Given the description of an element on the screen output the (x, y) to click on. 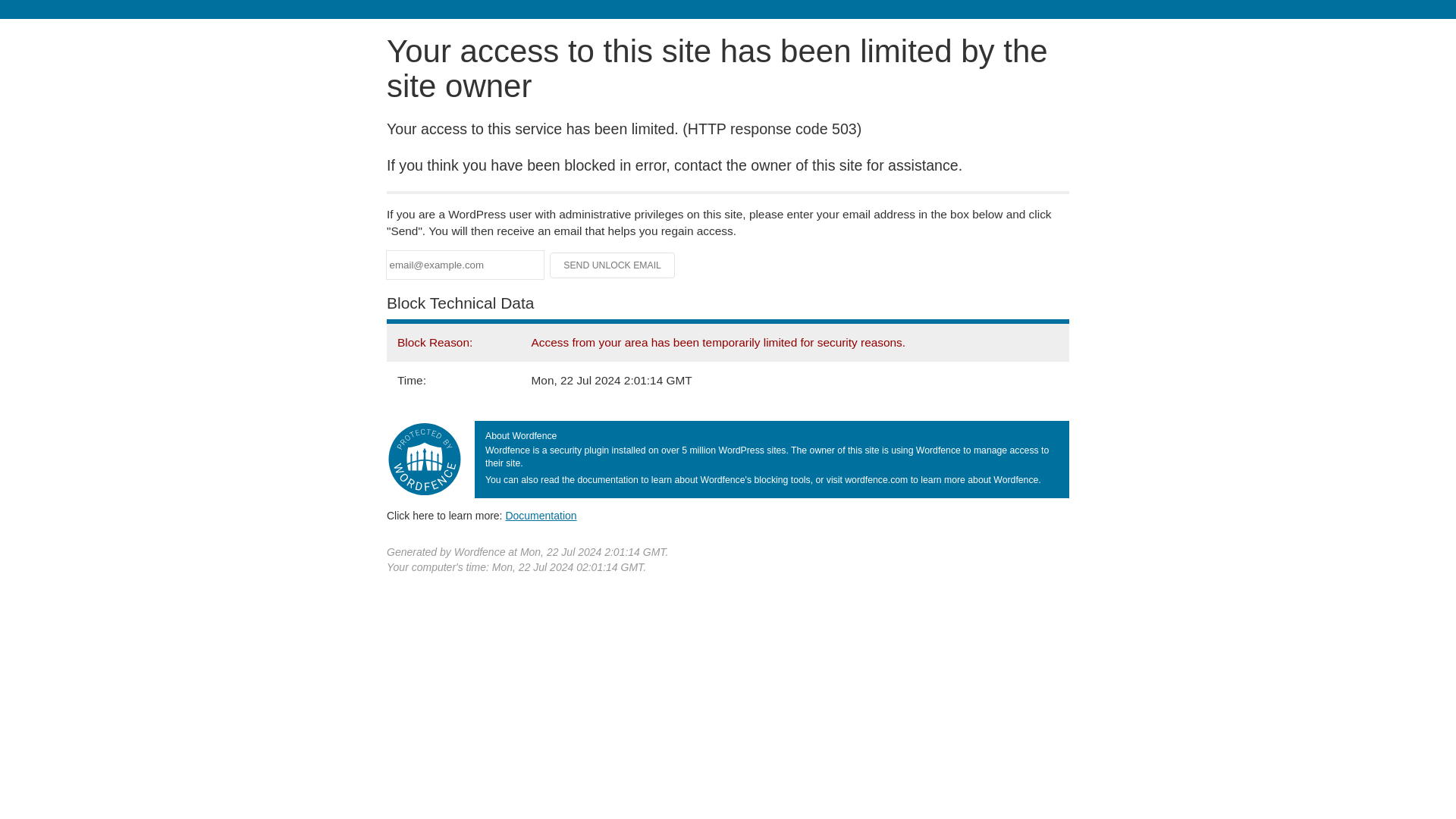
Send Unlock Email (612, 265)
Documentation (540, 515)
Send Unlock Email (612, 265)
